Given the description of an element on the screen output the (x, y) to click on. 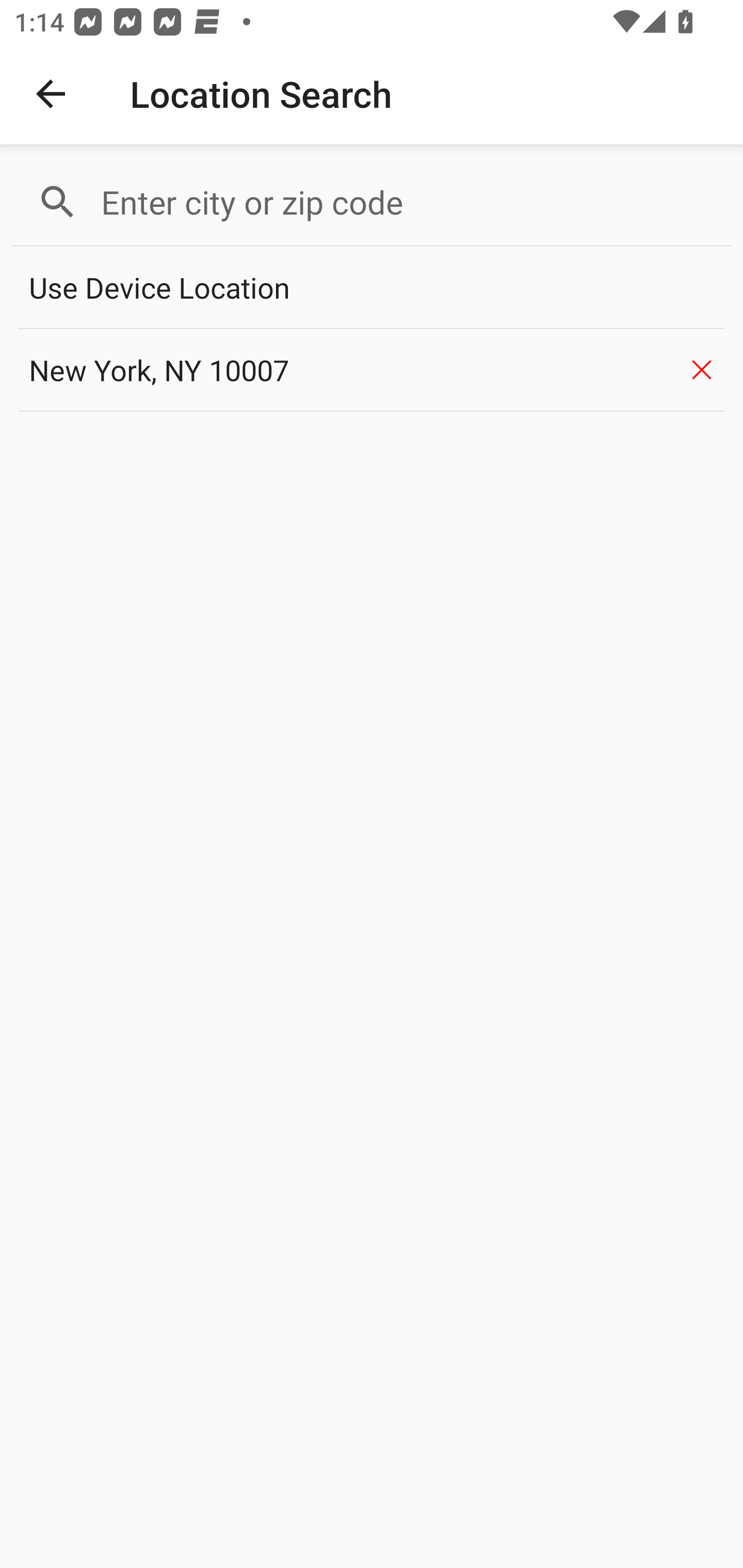
Navigate up (50, 93)
Enter city or zip code (407, 202)
Use Device Location (371, 287)
